Given the description of an element on the screen output the (x, y) to click on. 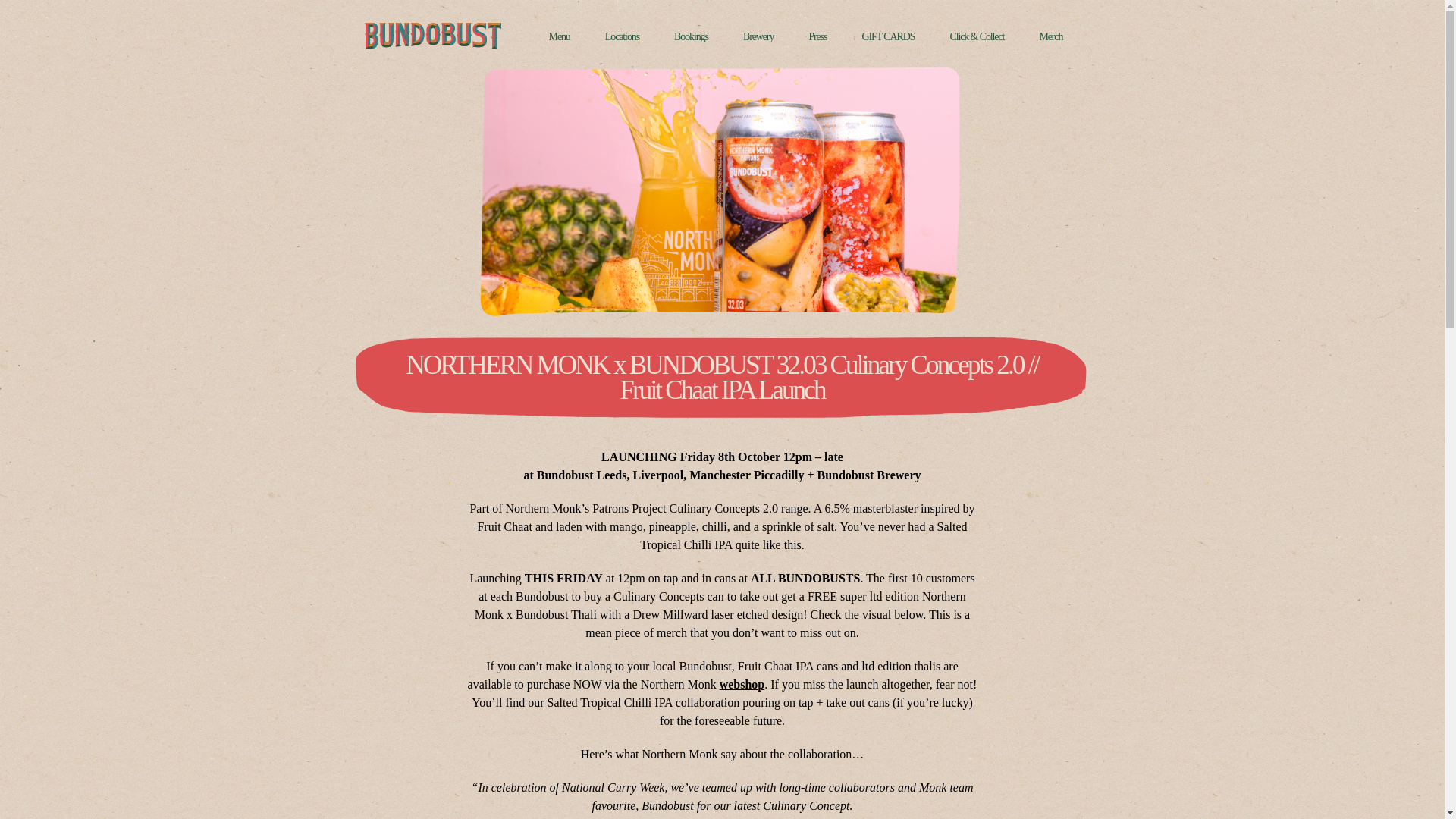
Menu (559, 36)
Locations (622, 36)
Merch (1050, 36)
GIFT CARDS (887, 36)
Press (817, 36)
Bookings (690, 36)
Brewery (757, 36)
